Given the description of an element on the screen output the (x, y) to click on. 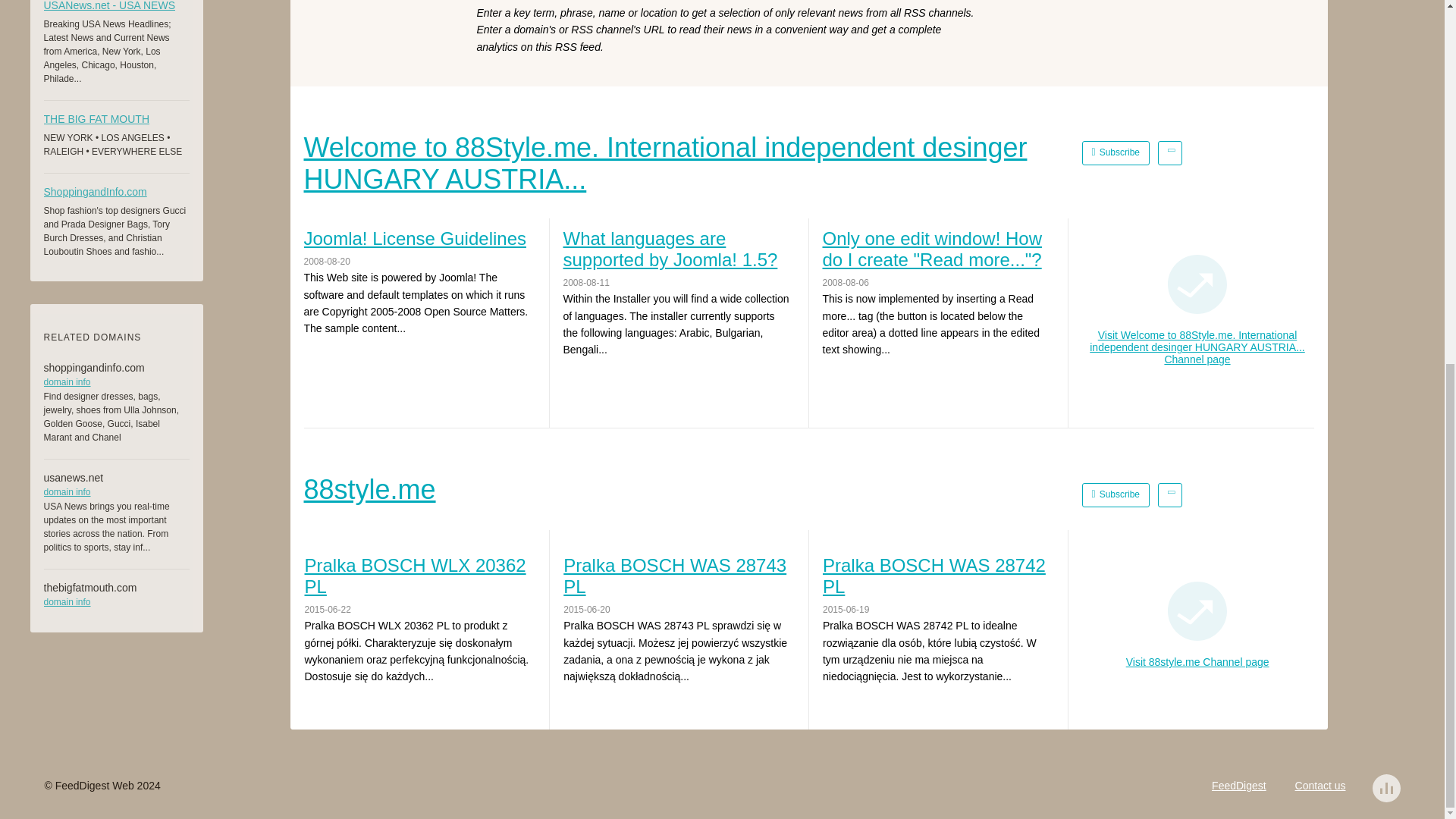
USANews.net - USA NEWS (116, 7)
Pralka BOSCH WAS 28742 PL (936, 576)
Visit 88style.me Channel page (1197, 662)
domain info (116, 602)
THE BIG FAT MOUTH (116, 120)
Contact us (1320, 785)
Subscribe (1115, 494)
Pralka BOSCH WAS 28743 PL (677, 576)
FeedDigest (1238, 785)
Joomla! License Guidelines (417, 238)
